Given the description of an element on the screen output the (x, y) to click on. 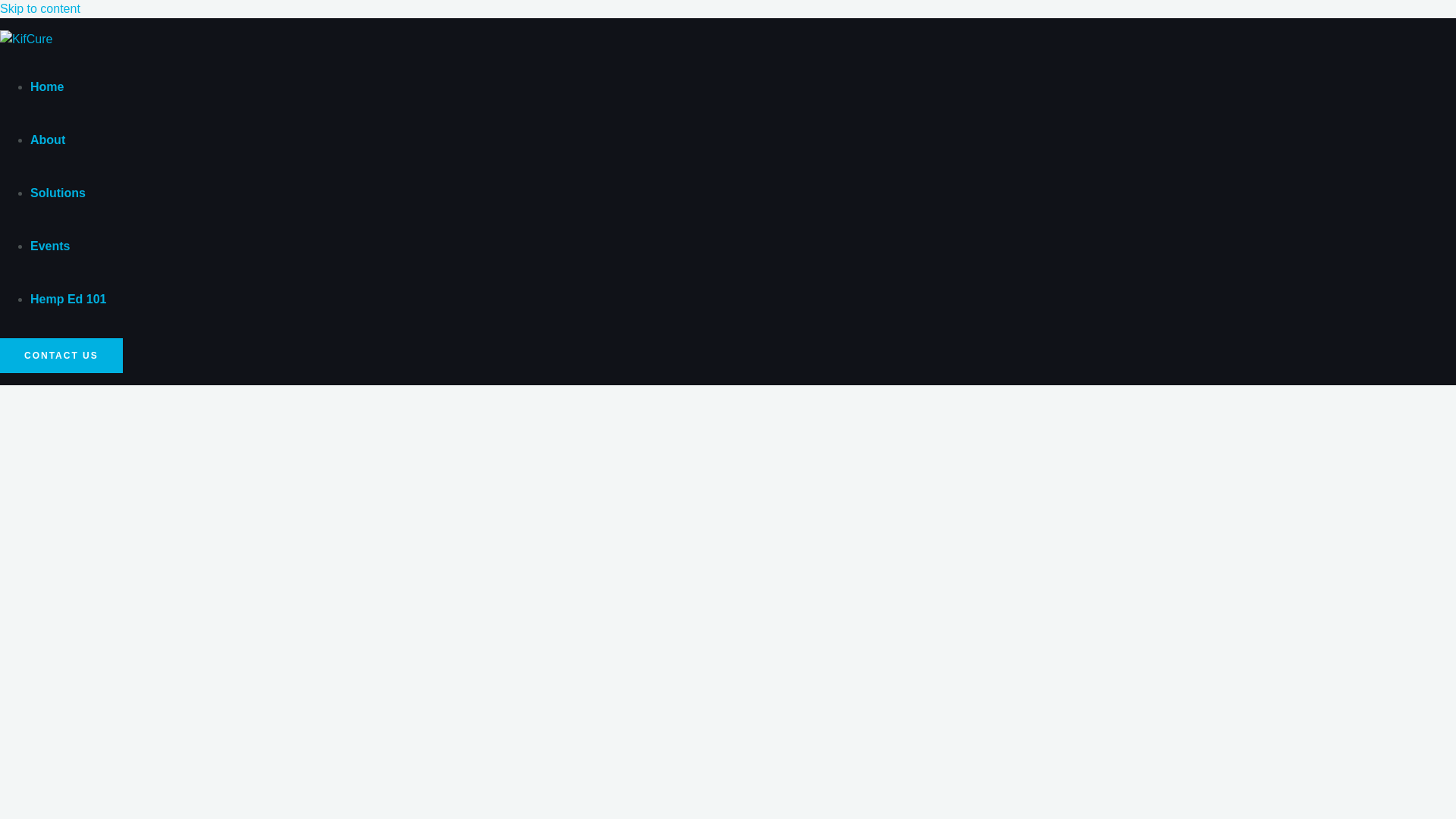
Events (49, 245)
Hemp Ed 101 (68, 298)
CONTACT US (61, 355)
About (47, 139)
Skip to content (40, 8)
Home (47, 86)
Solutions (57, 192)
Skip to content (40, 8)
